Given the description of an element on the screen output the (x, y) to click on. 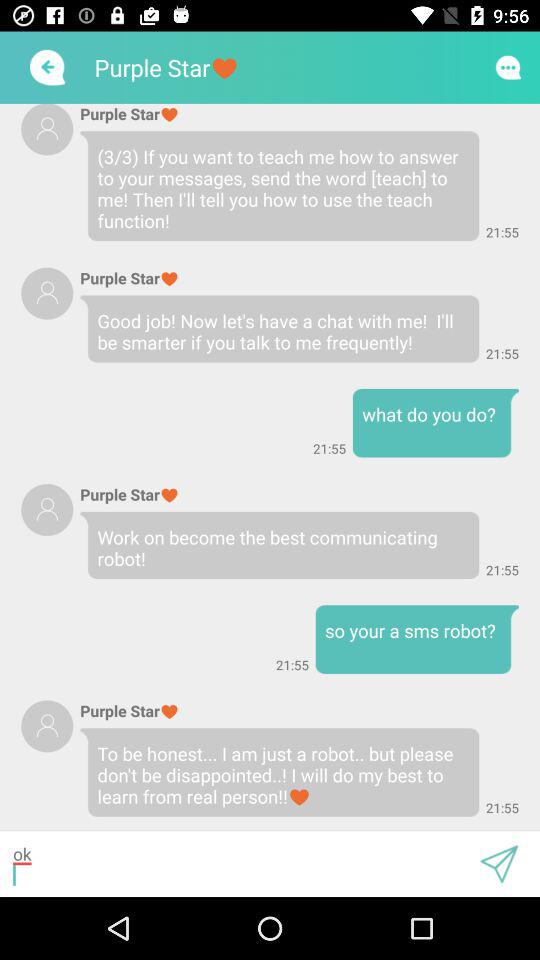
contact info (47, 509)
